Given the description of an element on the screen output the (x, y) to click on. 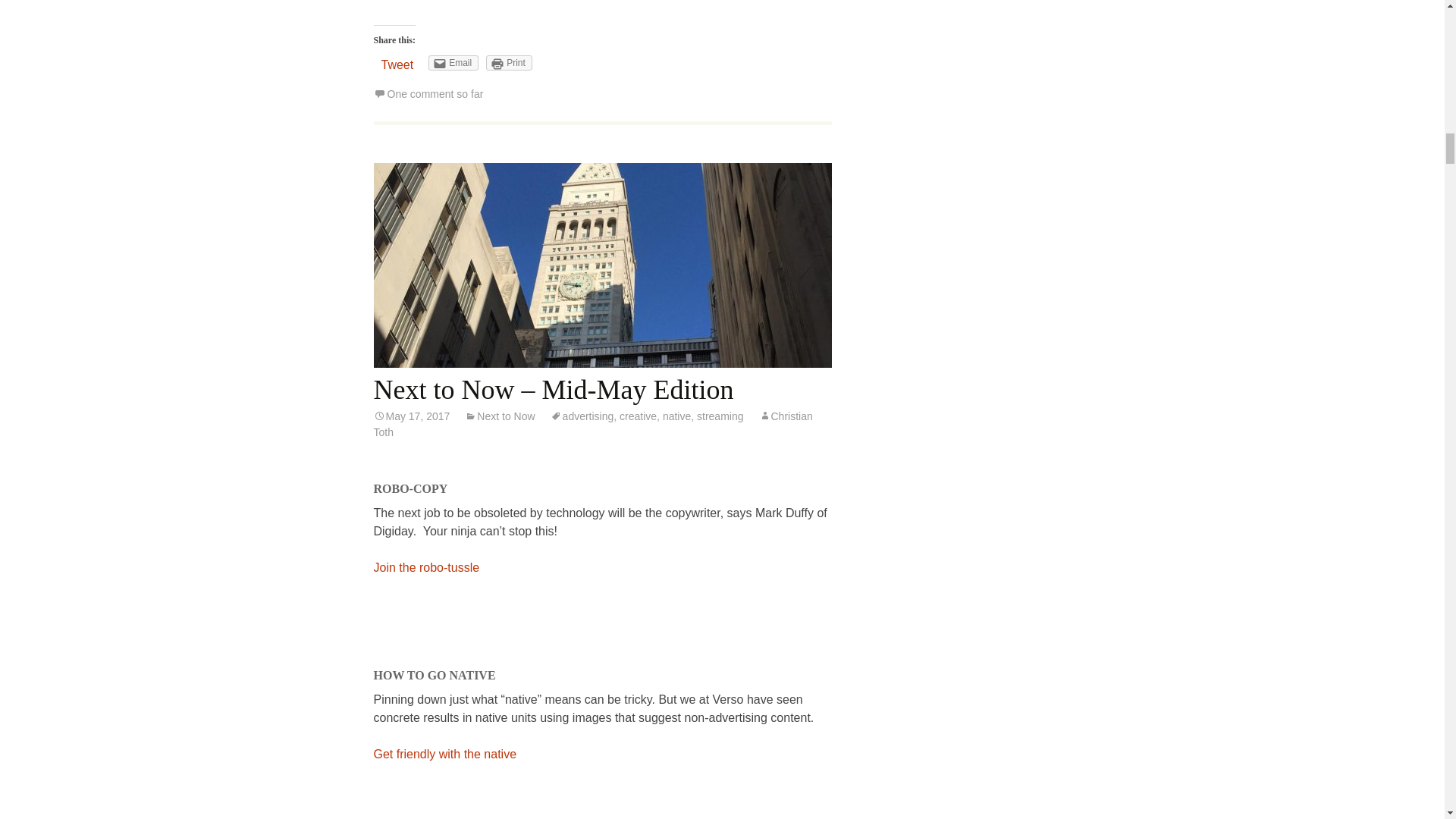
View all posts by Christian Toth (592, 424)
Click to print (509, 62)
Click to email this to a friend (453, 62)
